Given the description of an element on the screen output the (x, y) to click on. 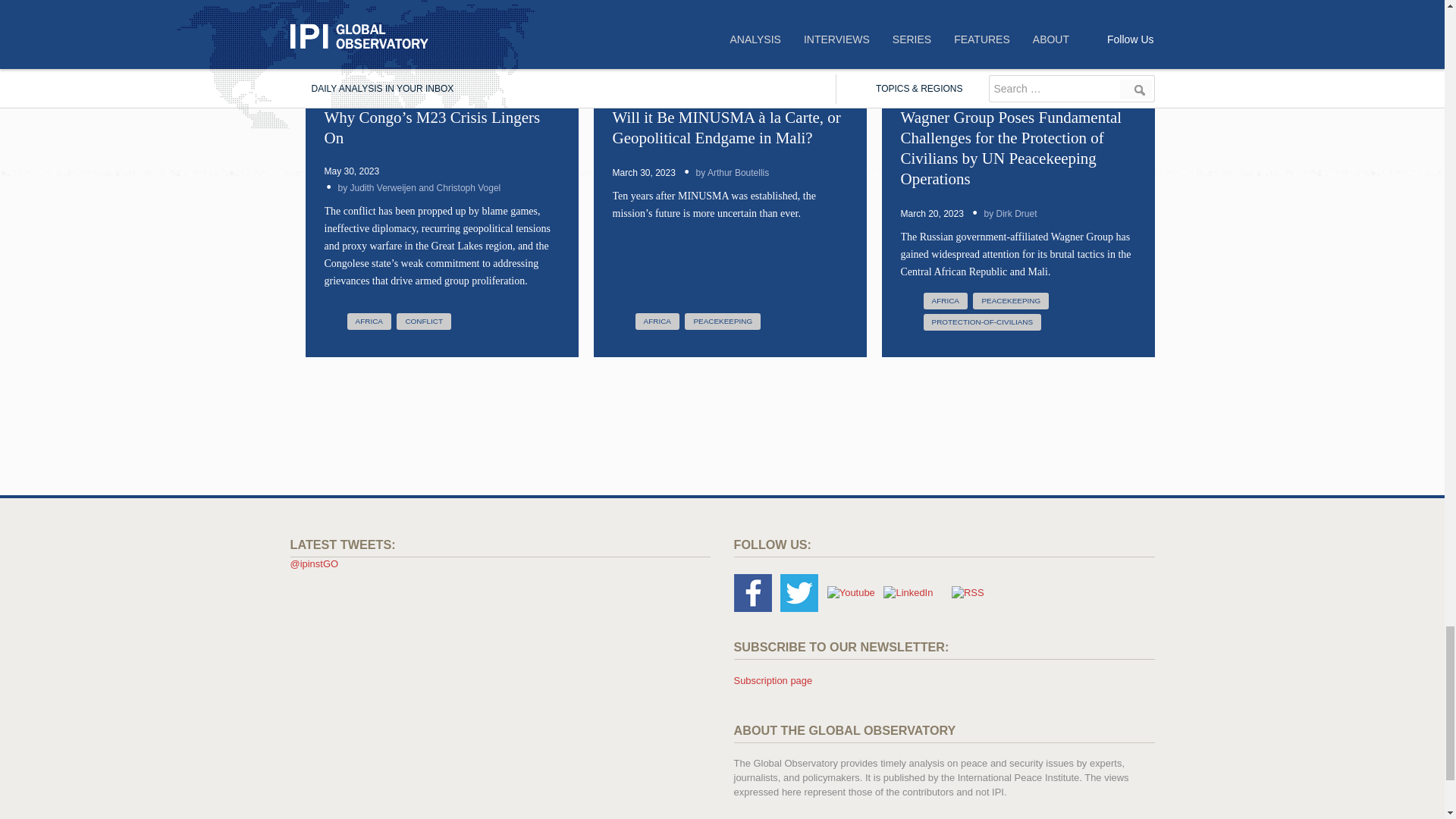
Facebook (752, 592)
LinkedIn (908, 593)
Youtube (850, 593)
Twitter (799, 592)
protection of civilians (982, 321)
